Given the description of an element on the screen output the (x, y) to click on. 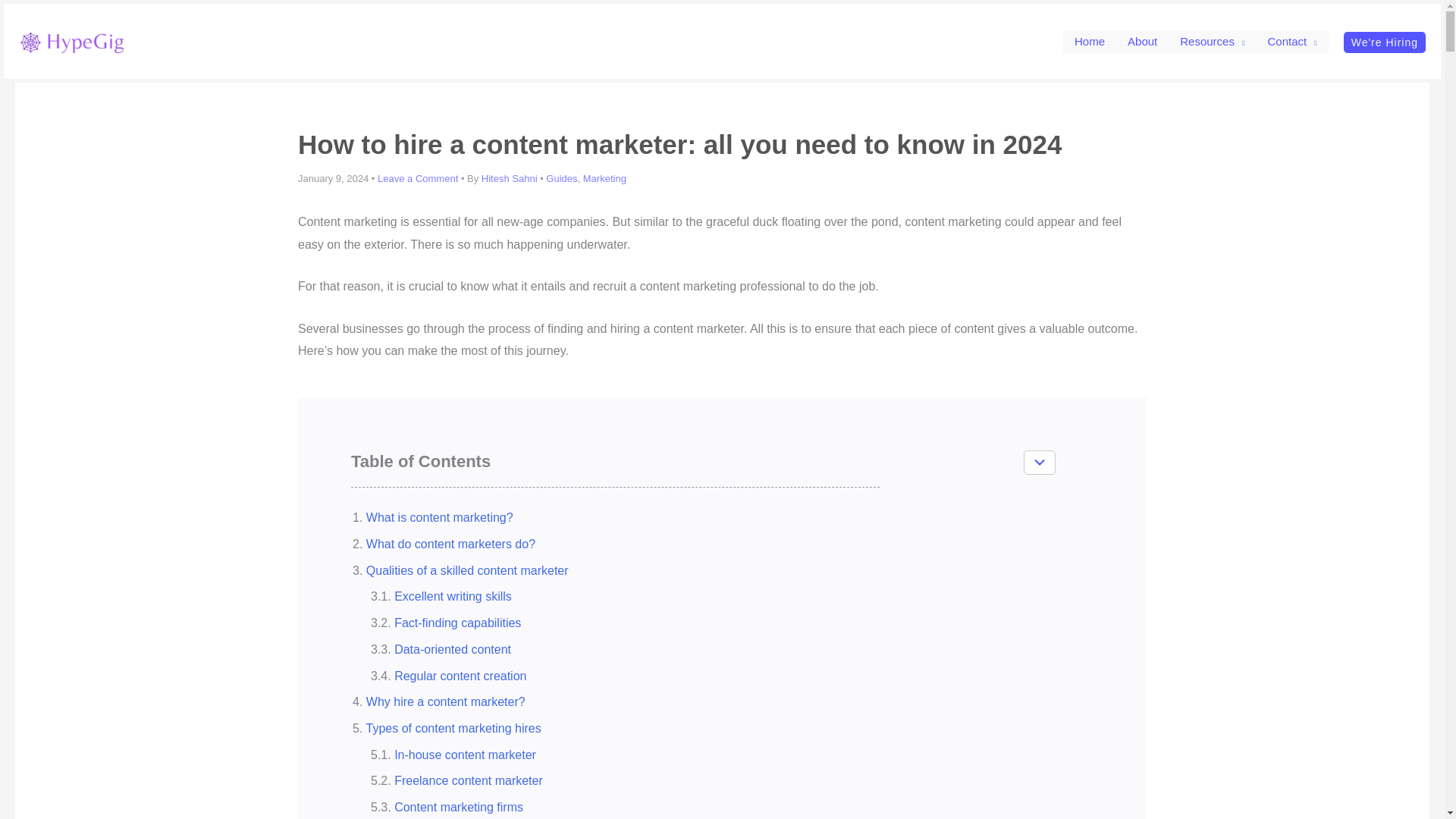
In-house content marketer (464, 754)
What do content marketers do? (450, 543)
Marketing (604, 178)
Leave a Comment (417, 178)
Hitesh Sahni (510, 178)
Types of content marketing hires (453, 727)
Contact (1291, 41)
Excellent writing skills (453, 595)
Freelance content marketer (468, 780)
Resources (1212, 41)
Home (1089, 41)
Regular content creation (459, 675)
Why hire a content marketer? (445, 701)
Guides (561, 178)
